Given the description of an element on the screen output the (x, y) to click on. 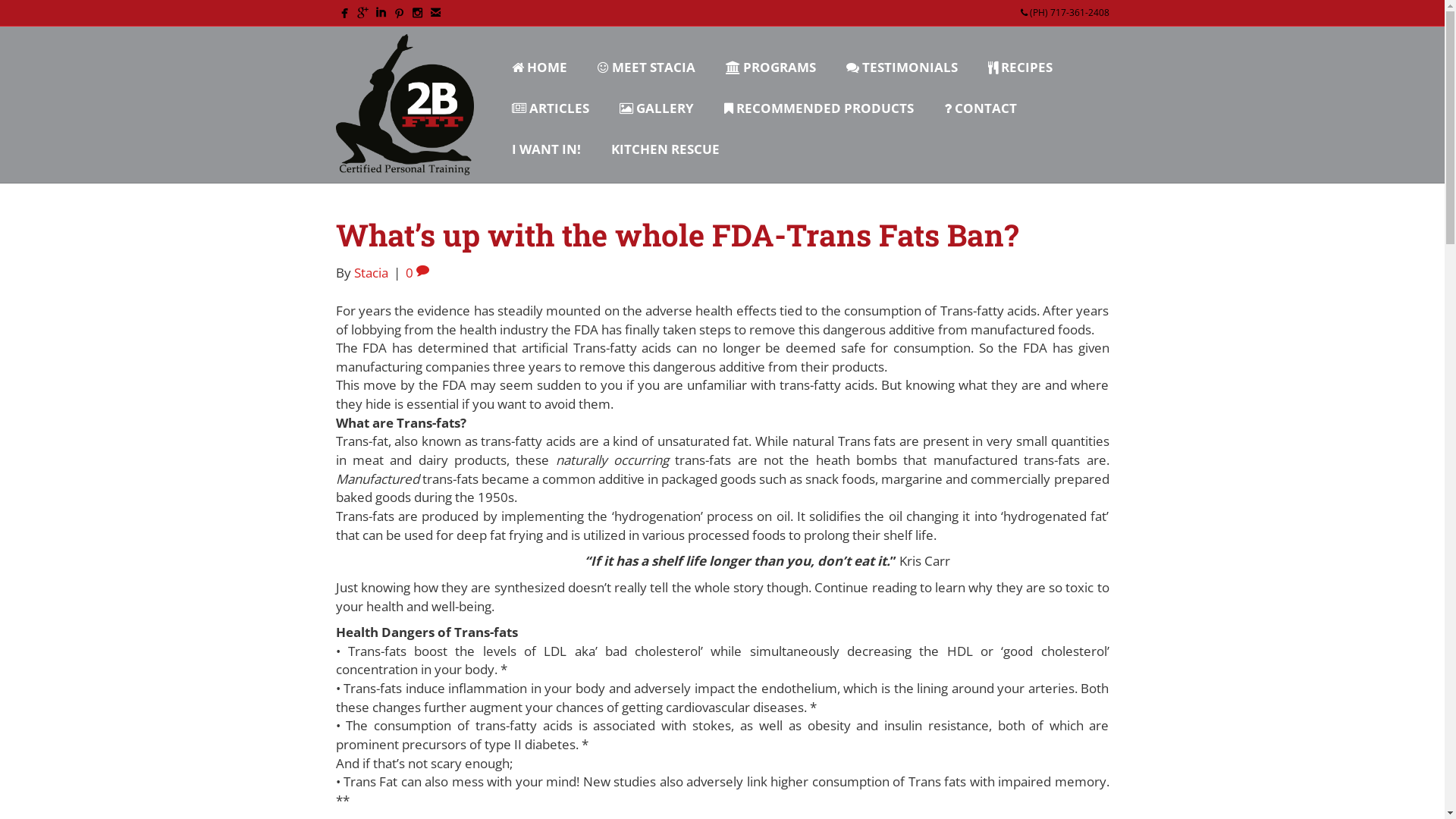
Stacia Element type: text (370, 272)
TESTIMONIALS Element type: text (901, 63)
RECIPES Element type: text (1019, 63)
RECOMMENDED PRODUCTS Element type: text (818, 104)
CONTACT Element type: text (980, 104)
PROGRAMS Element type: text (770, 63)
MEET STACIA Element type: text (646, 63)
KITCHEN RESCUE Element type: text (665, 145)
ARTICLES Element type: text (550, 104)
(PH) 717-361-2408 Element type: text (1064, 12)
I WANT IN! Element type: text (546, 145)
GALLERY Element type: text (656, 104)
HOME Element type: text (539, 63)
0 Element type: text (416, 272)
